Given the description of an element on the screen output the (x, y) to click on. 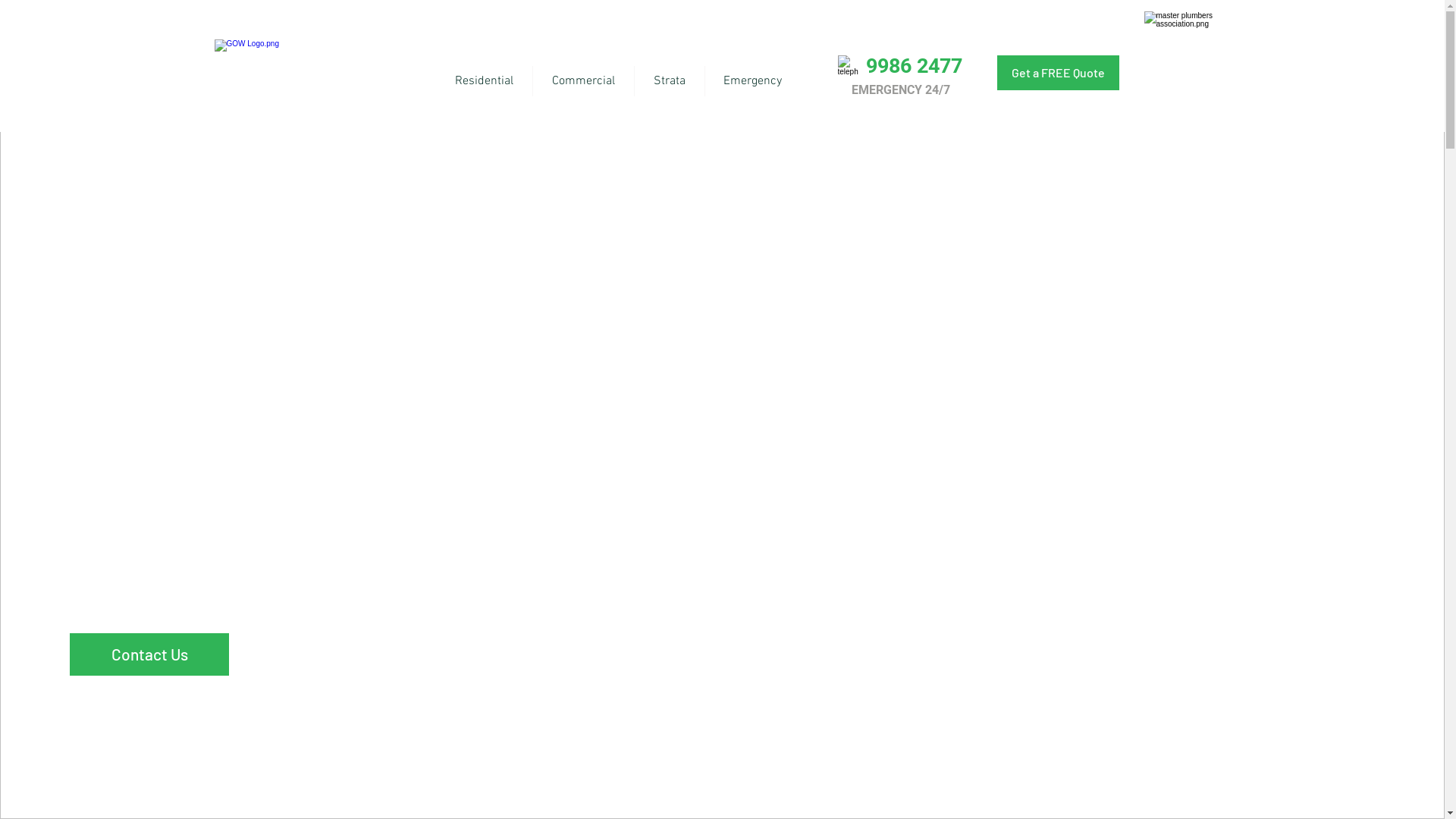
Our Services Element type: text (324, 654)
Strata Element type: text (668, 80)
Emergency Element type: text (752, 80)
Commercial Element type: text (582, 80)
Contact Us Element type: text (148, 653)
9986 2477 Element type: text (914, 65)
Get a FREE Quote Element type: text (1057, 72)
Residential Element type: text (483, 80)
